Given the description of an element on the screen output the (x, y) to click on. 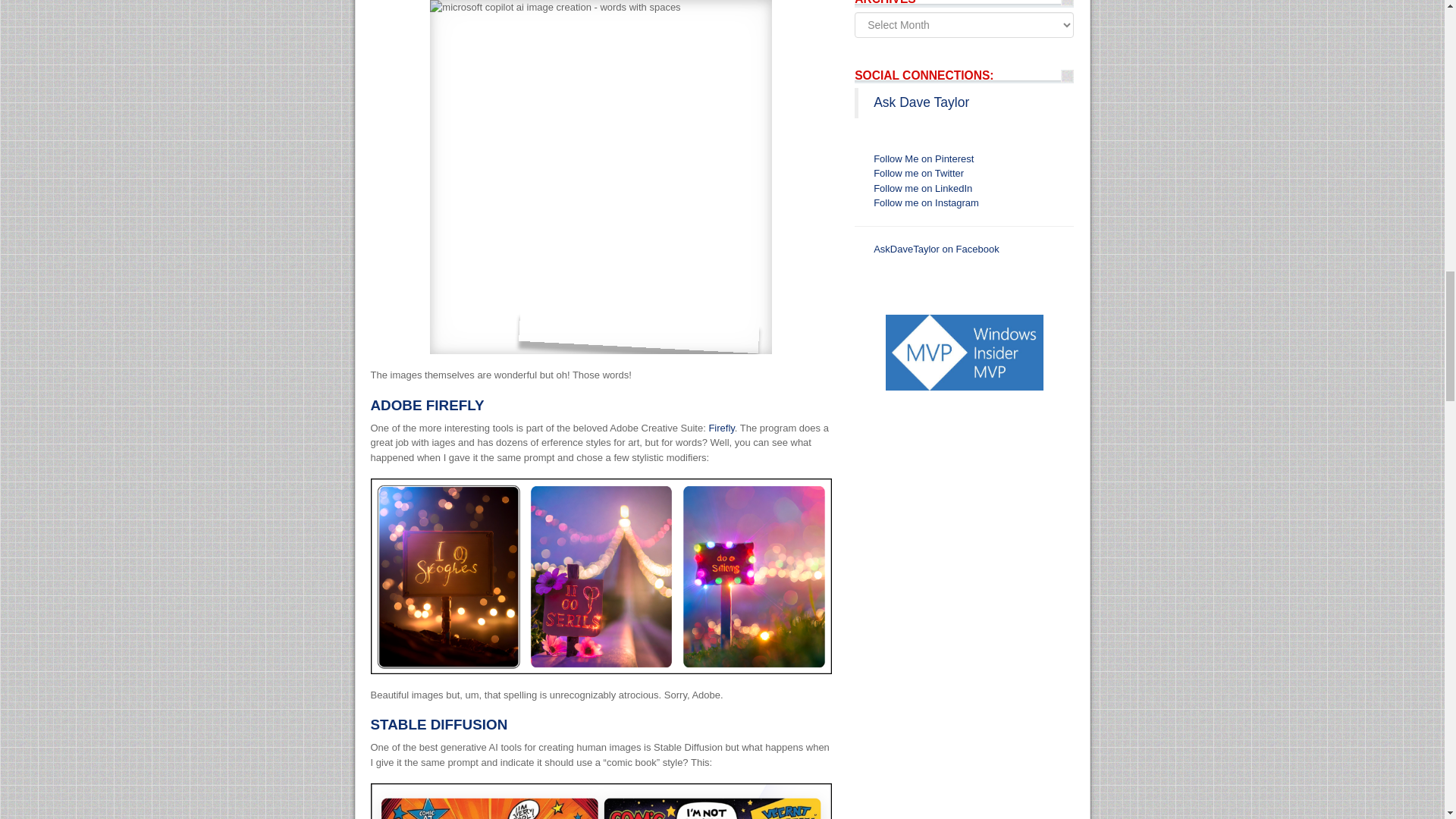
Firefly (720, 428)
